Given the description of an element on the screen output the (x, y) to click on. 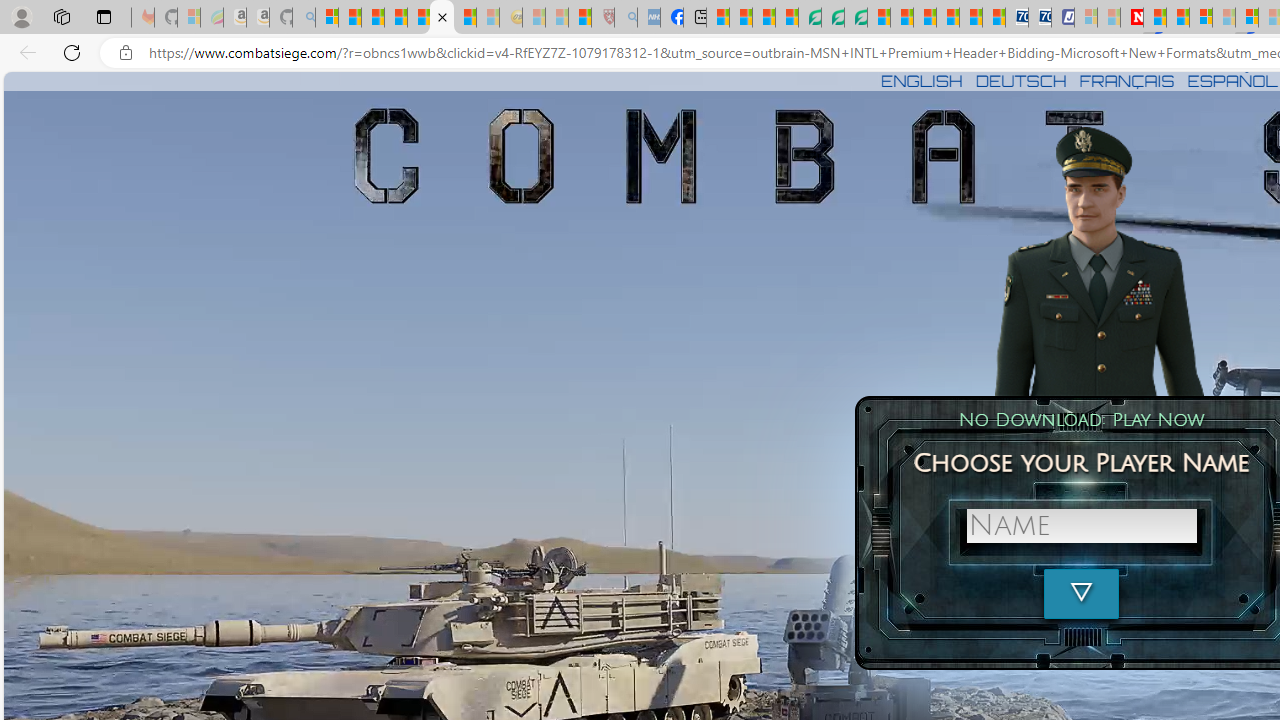
Combat Siege (442, 17)
New Report Confirms 2023 Was Record Hot | Watch (419, 17)
LendingTree - Compare Lenders (809, 17)
